Given the description of an element on the screen output the (x, y) to click on. 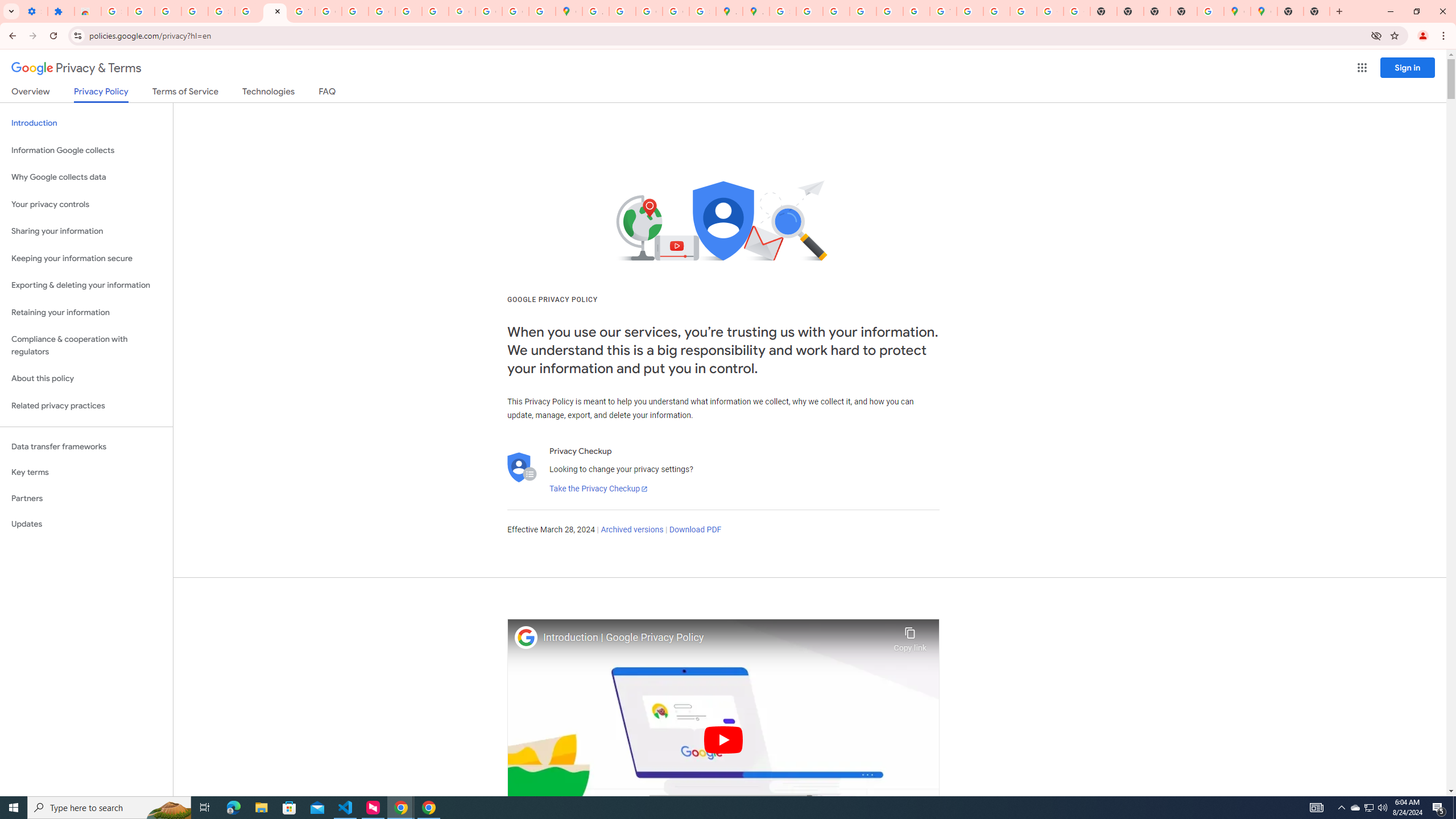
YouTube (943, 11)
Privacy Help Center - Policies Help (836, 11)
About this policy (86, 379)
Reviews: Helix Fruit Jump Arcade Game (87, 11)
YouTube (301, 11)
